Given the description of an element on the screen output the (x, y) to click on. 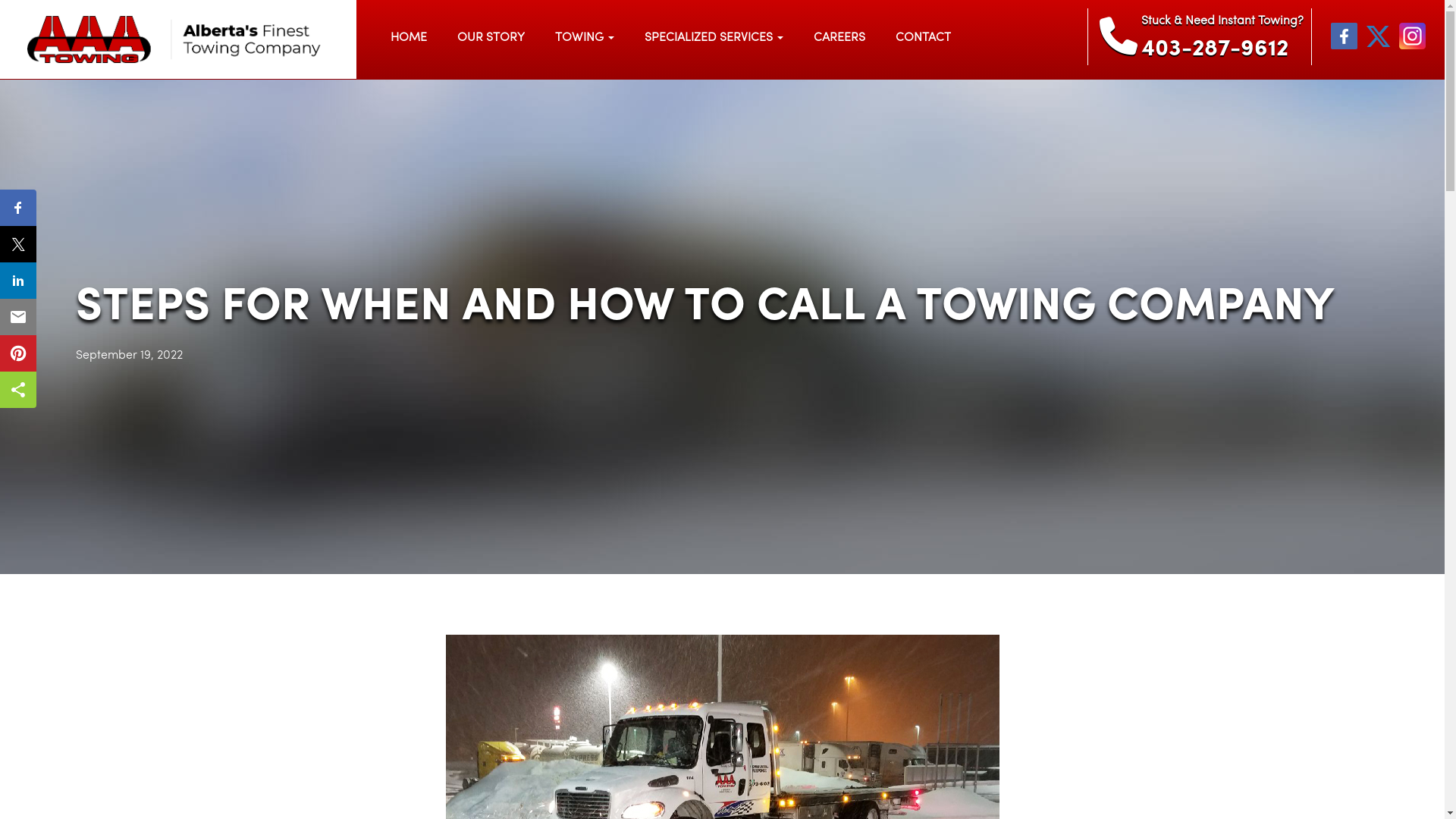
403-287-9612 Element type: text (1222, 49)
TOWING Element type: text (584, 37)
CAREERS Element type: text (839, 37)
SPECIALIZED SERVICES Element type: text (713, 37)
OUR STORY Element type: text (490, 37)
CONTACT Element type: text (922, 37)
HOME Element type: text (408, 37)
